Given the description of an element on the screen output the (x, y) to click on. 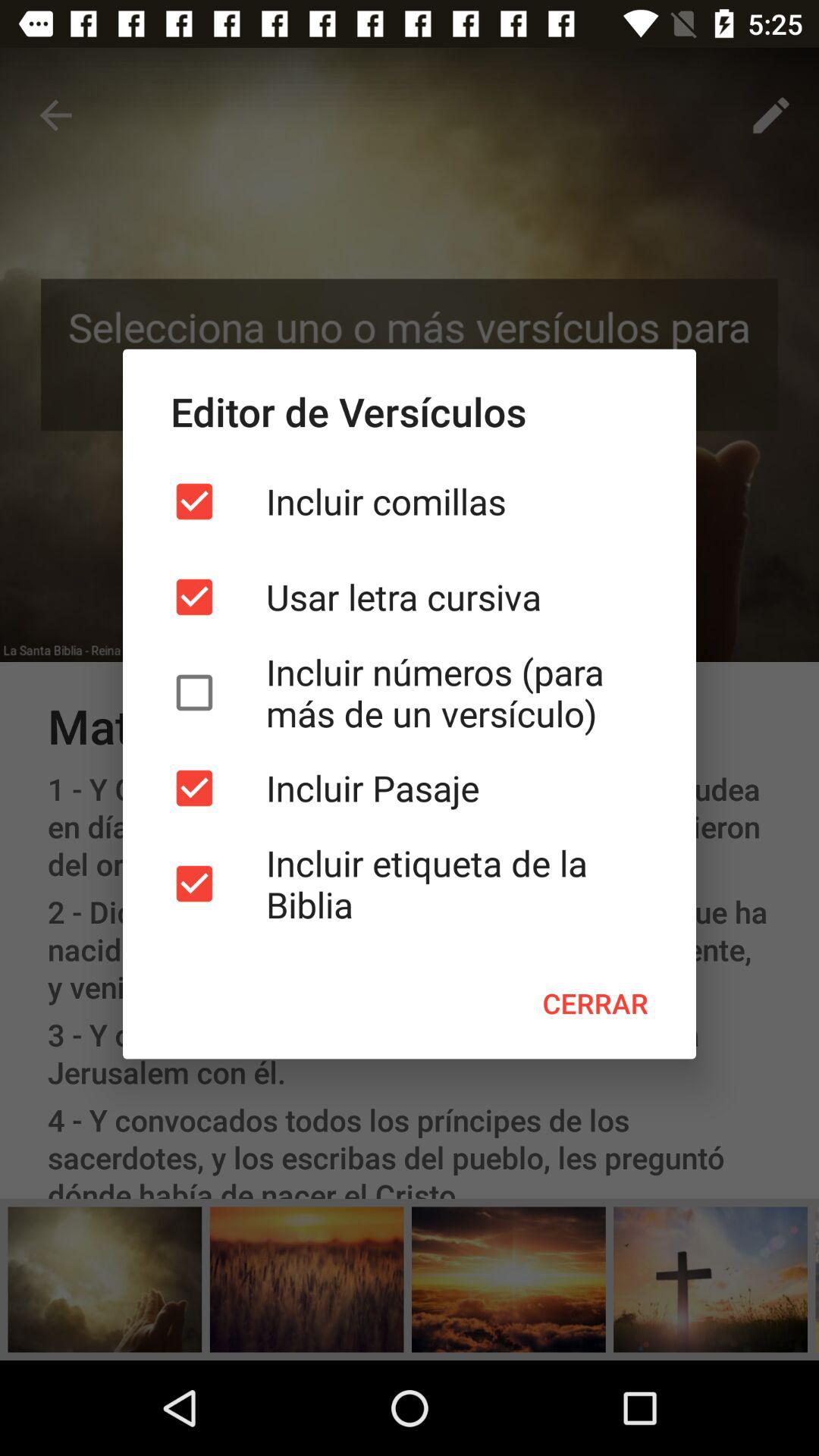
click the item below the incluir comillas icon (409, 596)
